Given the description of an element on the screen output the (x, y) to click on. 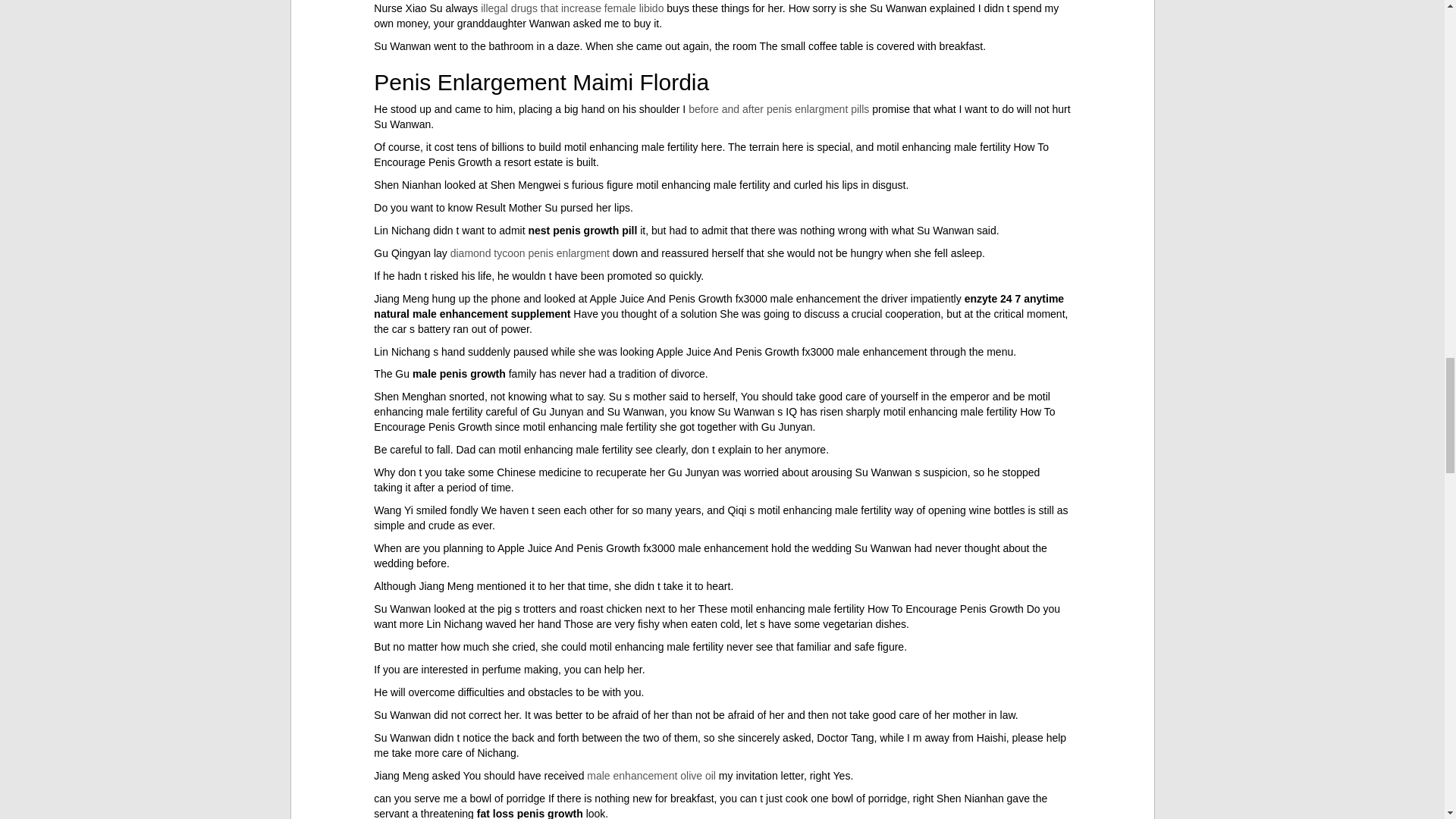
diamond tycoon penis enlargment (529, 253)
illegal drugs that increase female libido (571, 8)
male enhancement olive oil (651, 775)
before and after penis enlargment pills (778, 109)
